Given the description of an element on the screen output the (x, y) to click on. 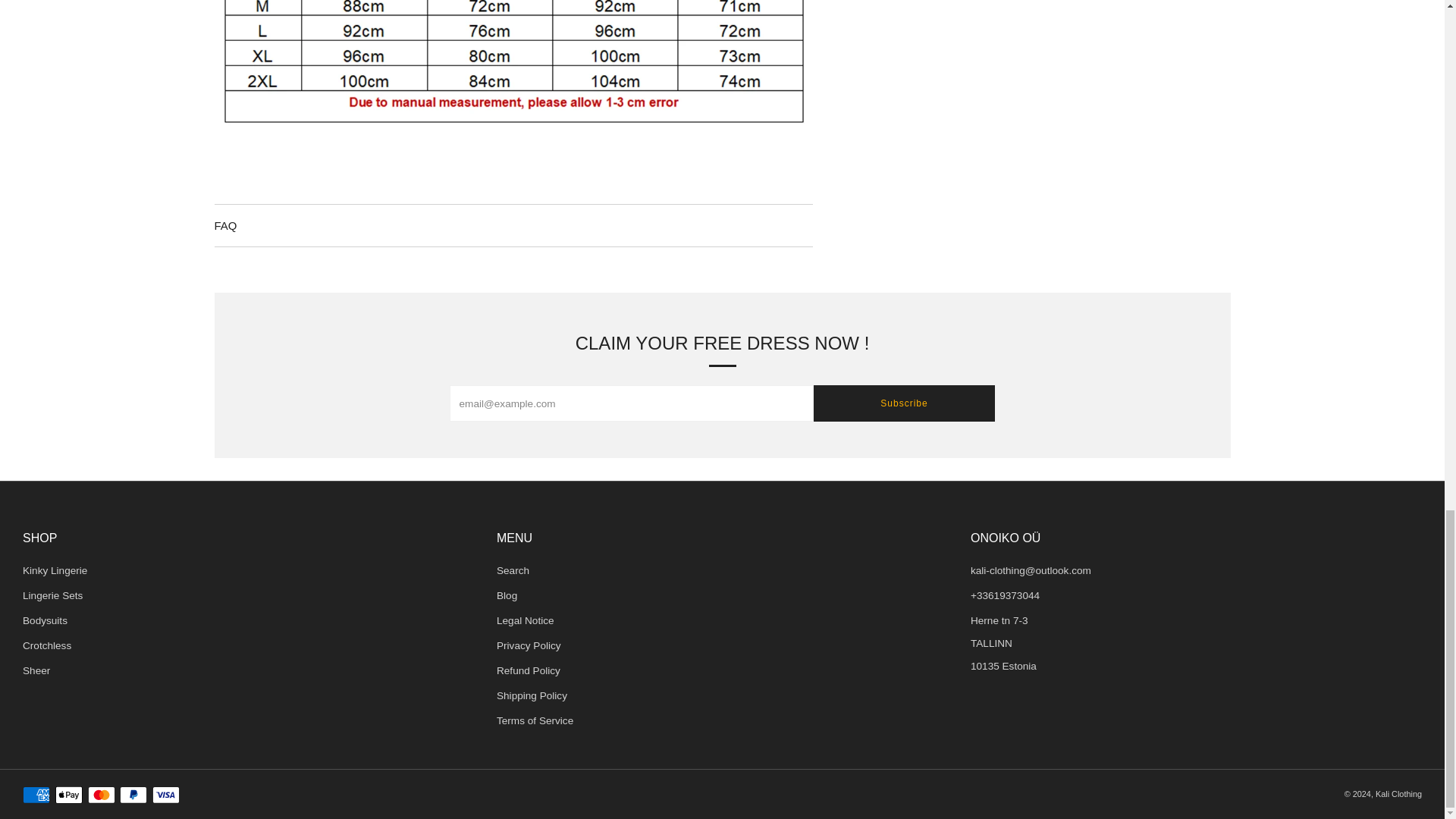
Kinky Lingerie (55, 570)
Subscribe (903, 402)
